Given the description of an element on the screen output the (x, y) to click on. 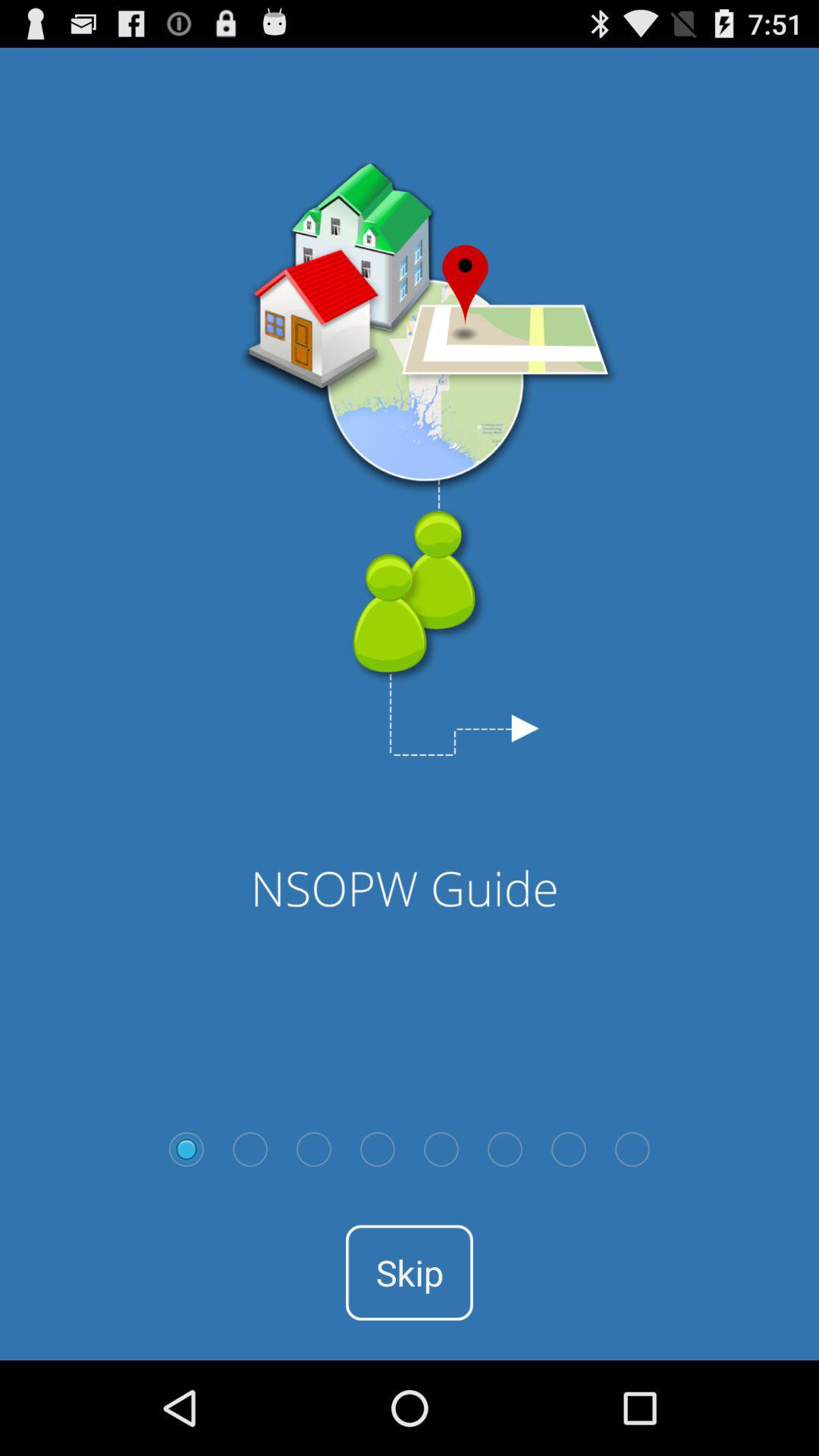
select slide (377, 1149)
